Given the description of an element on the screen output the (x, y) to click on. 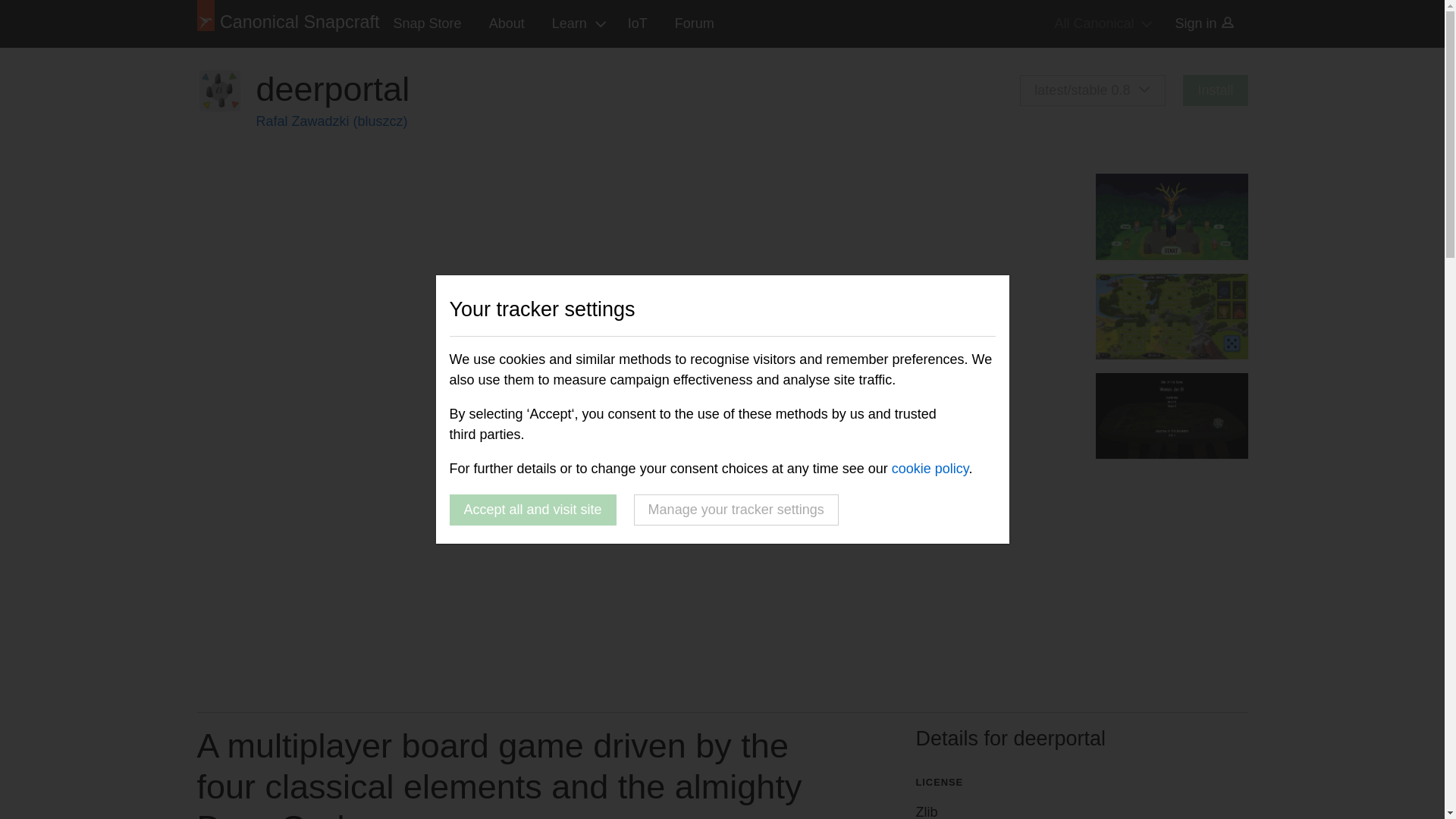
Forum (694, 23)
IoT (637, 23)
About (507, 23)
Canonical Snapcraft (288, 23)
Snap Store (428, 23)
Learn (576, 23)
